Given the description of an element on the screen output the (x, y) to click on. 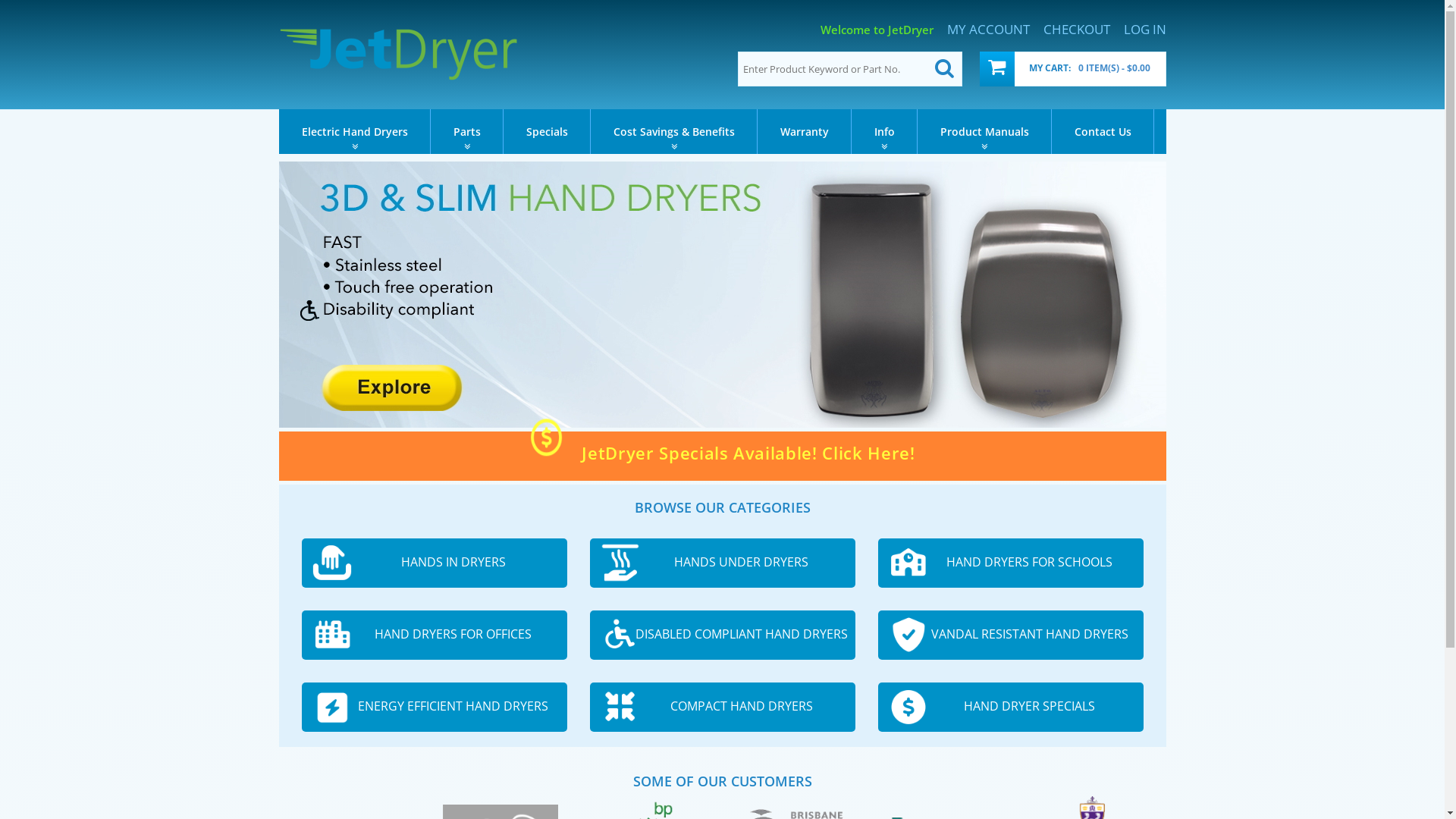
HANDS UNDER DRYERS Element type: text (722, 562)
Specials Element type: text (546, 131)
HAND DRYERS FOR OFFICES Element type: text (434, 634)
JetDryer Element type: hover (398, 53)
HANDS IN DRYERS Element type: text (434, 562)
Electric Hand Dryers Element type: text (354, 131)
Info Element type: text (883, 131)
HAND DRYERS FOR SCHOOLS Element type: text (1010, 562)
Product Manuals Element type: text (984, 131)
Warranty Element type: text (803, 131)
LOG IN Element type: text (1144, 29)
HAND DRYER SPECIALS Element type: text (1010, 706)
Cost Savings & Benefits Element type: text (672, 131)
Contact Us Element type: text (1102, 131)
CHECKOUT Element type: text (1076, 29)
Search Element type: hover (943, 68)
MY ACCOUNT Element type: text (987, 29)
Parts Element type: text (466, 131)
JetDryer Specials Available! Click Here! Element type: text (721, 454)
VANDAL RESISTANT HAND DRYERS Element type: text (1010, 634)
COMPACT HAND DRYERS Element type: text (722, 706)
ENERGY EFFICIENT HAND DRYERS Element type: text (434, 706)
DISABLED COMPLIANT HAND DRYERS Element type: text (722, 634)
